Given the description of an element on the screen output the (x, y) to click on. 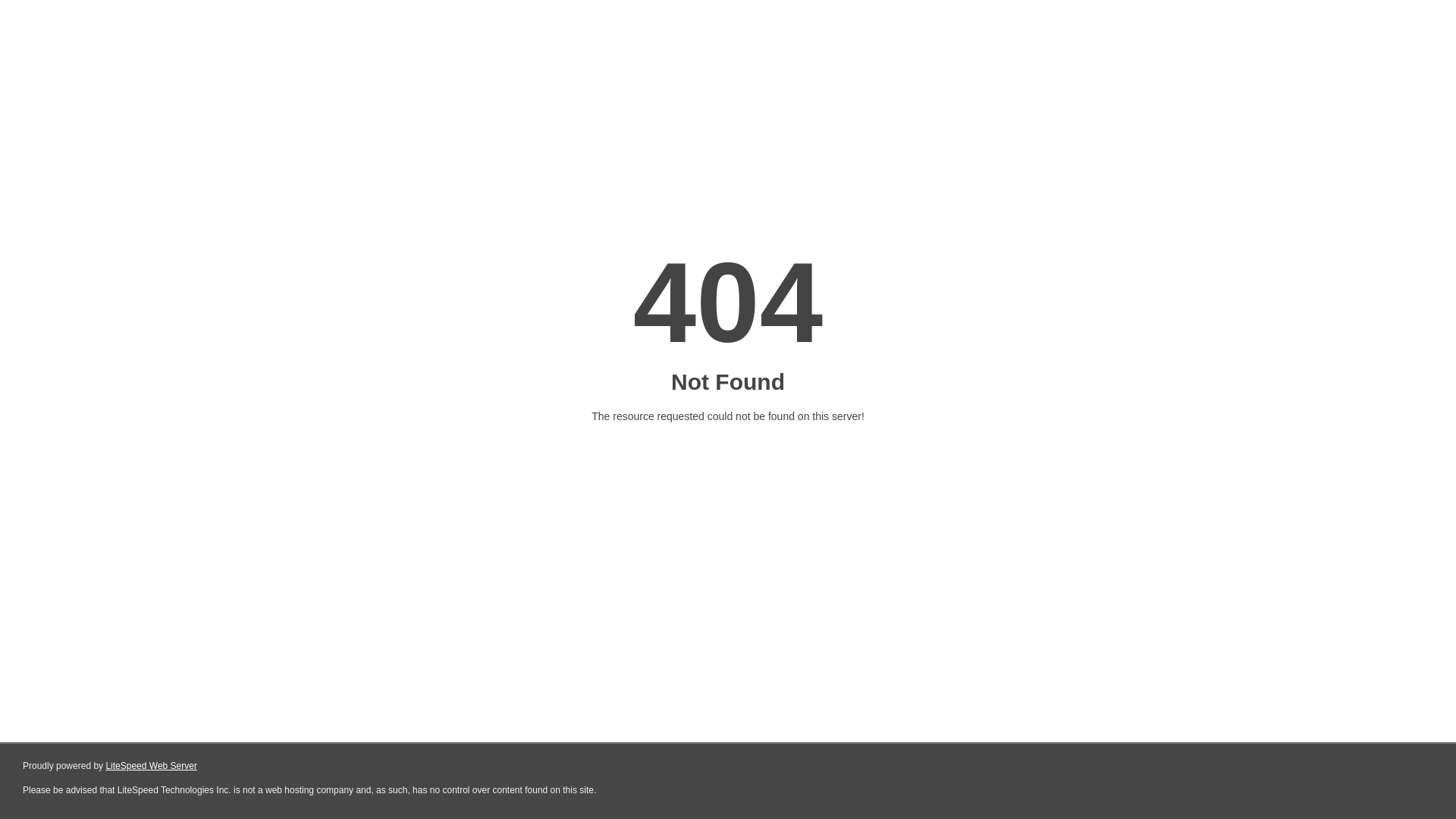
LiteSpeed Web Server Element type: text (151, 765)
